Given the description of an element on the screen output the (x, y) to click on. 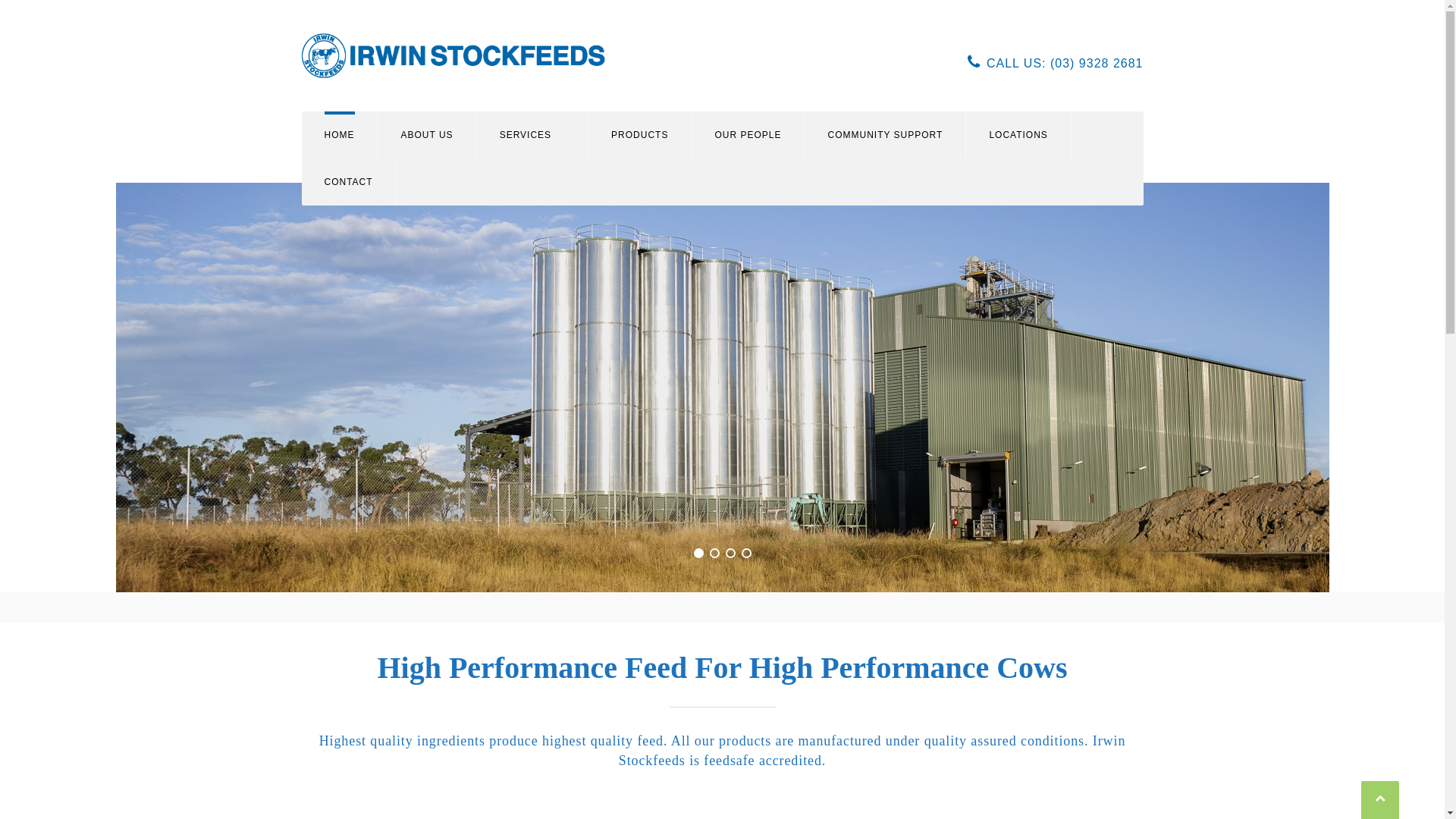
CONTACT Element type: text (348, 181)
Home Page Slider 5 Element type: hover (722, 387)
COMMUNITY SUPPORT Element type: text (884, 134)
1 Element type: text (697, 553)
OUR PEOPLE Element type: text (747, 134)
HOME Element type: text (339, 134)
3 Element type: text (729, 553)
CALL US: (03) 9328 2681 Element type: text (1055, 62)
SERVICES Element type: text (531, 134)
ABOUT US Element type: text (426, 134)
4 Element type: text (746, 553)
2 Element type: text (714, 553)
PRODUCTS Element type: text (639, 134)
LOCATIONS Element type: text (1017, 134)
